Given the description of an element on the screen output the (x, y) to click on. 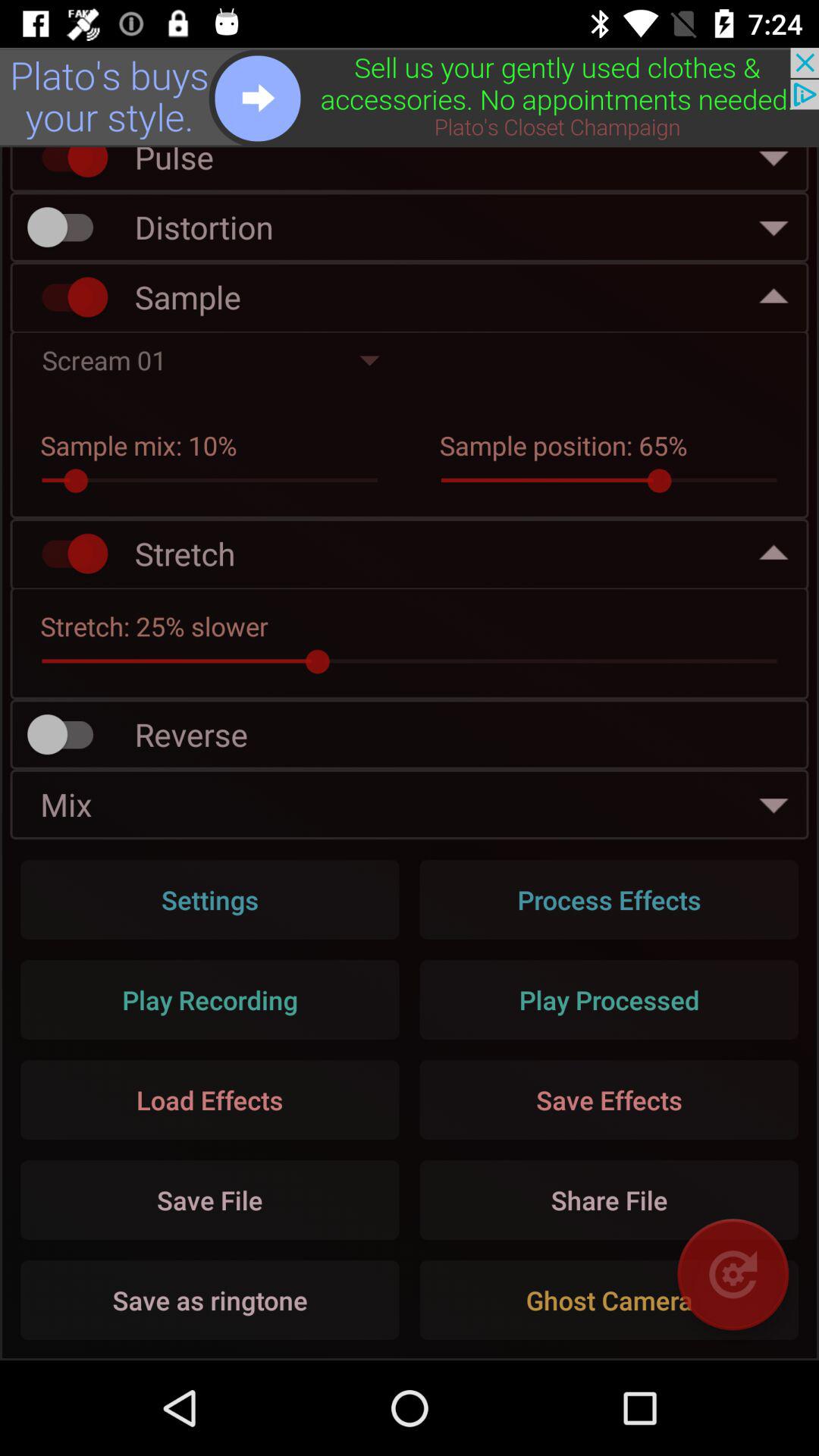
toggle on (67, 297)
